Given the description of an element on the screen output the (x, y) to click on. 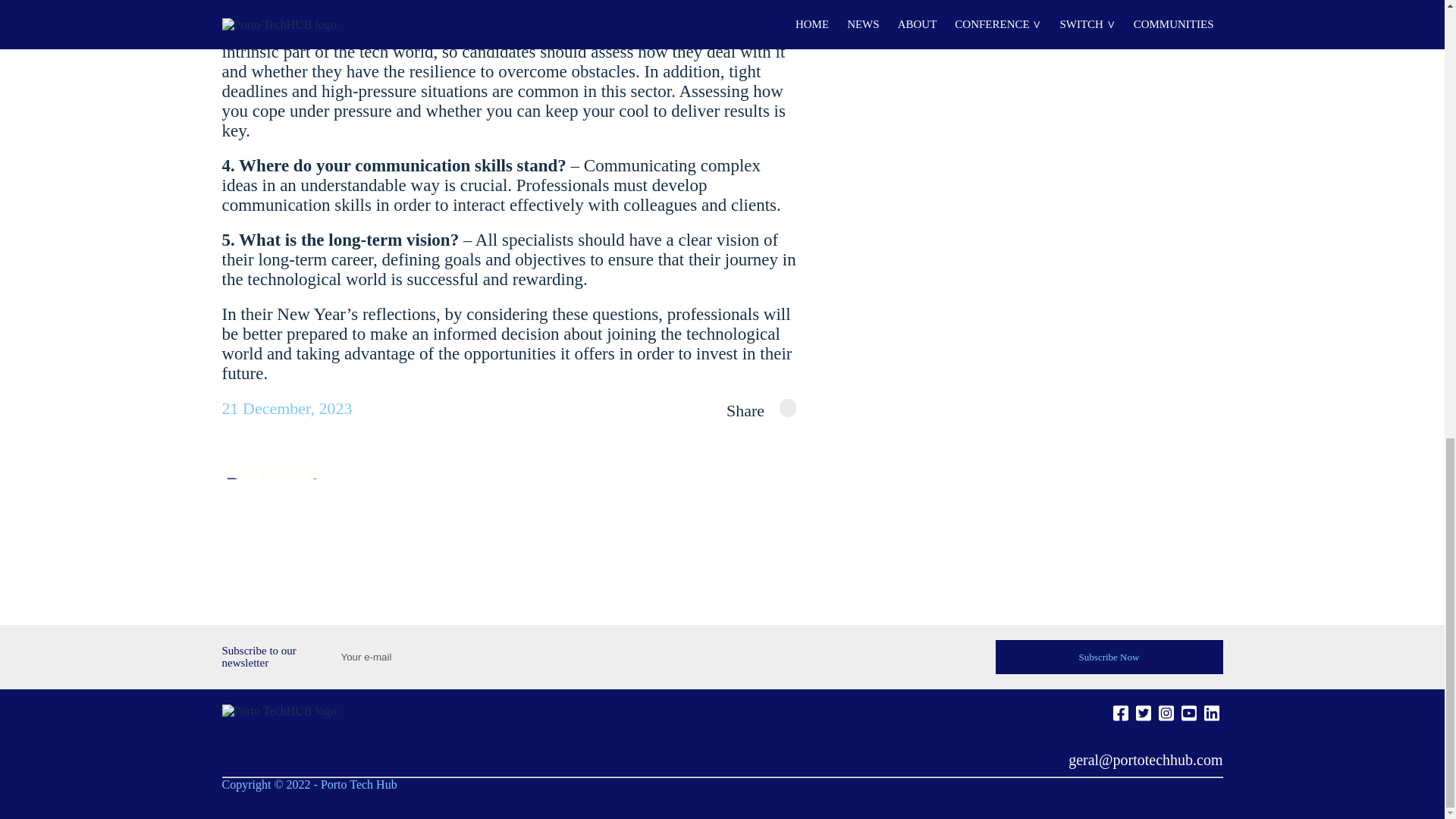
Subscribe Now (1108, 656)
